Given the description of an element on the screen output the (x, y) to click on. 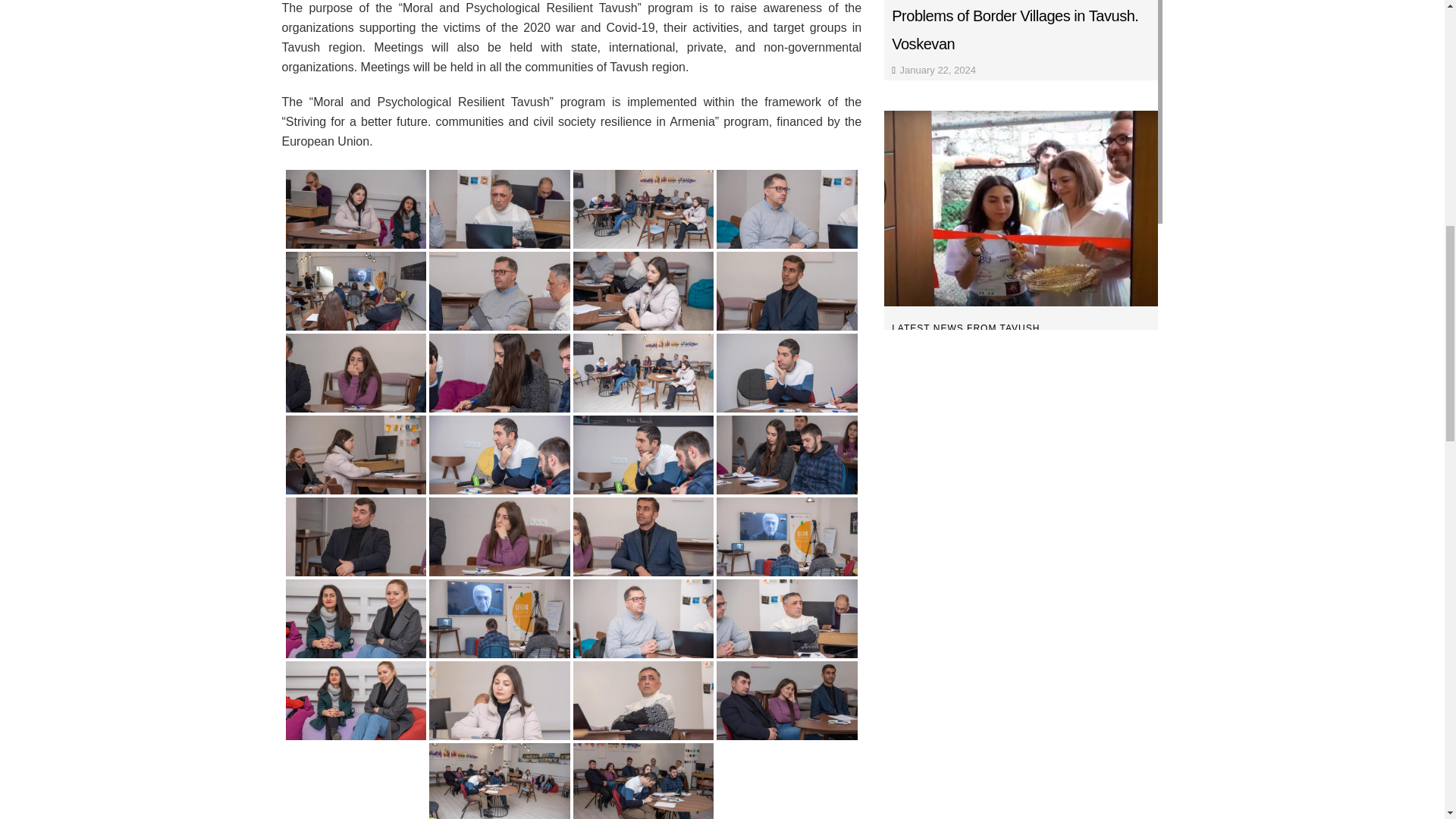
DSC 0251 (643, 209)
DSC 0256 (499, 291)
DSC 0241 (355, 209)
DSC 0260 (643, 372)
DSC 0267 (355, 454)
DSC 0264 (786, 372)
DSC 0248 (355, 291)
DSC 0277 (355, 536)
DSC 0244 (499, 209)
DSC 0268 (499, 454)
